Given the description of an element on the screen output the (x, y) to click on. 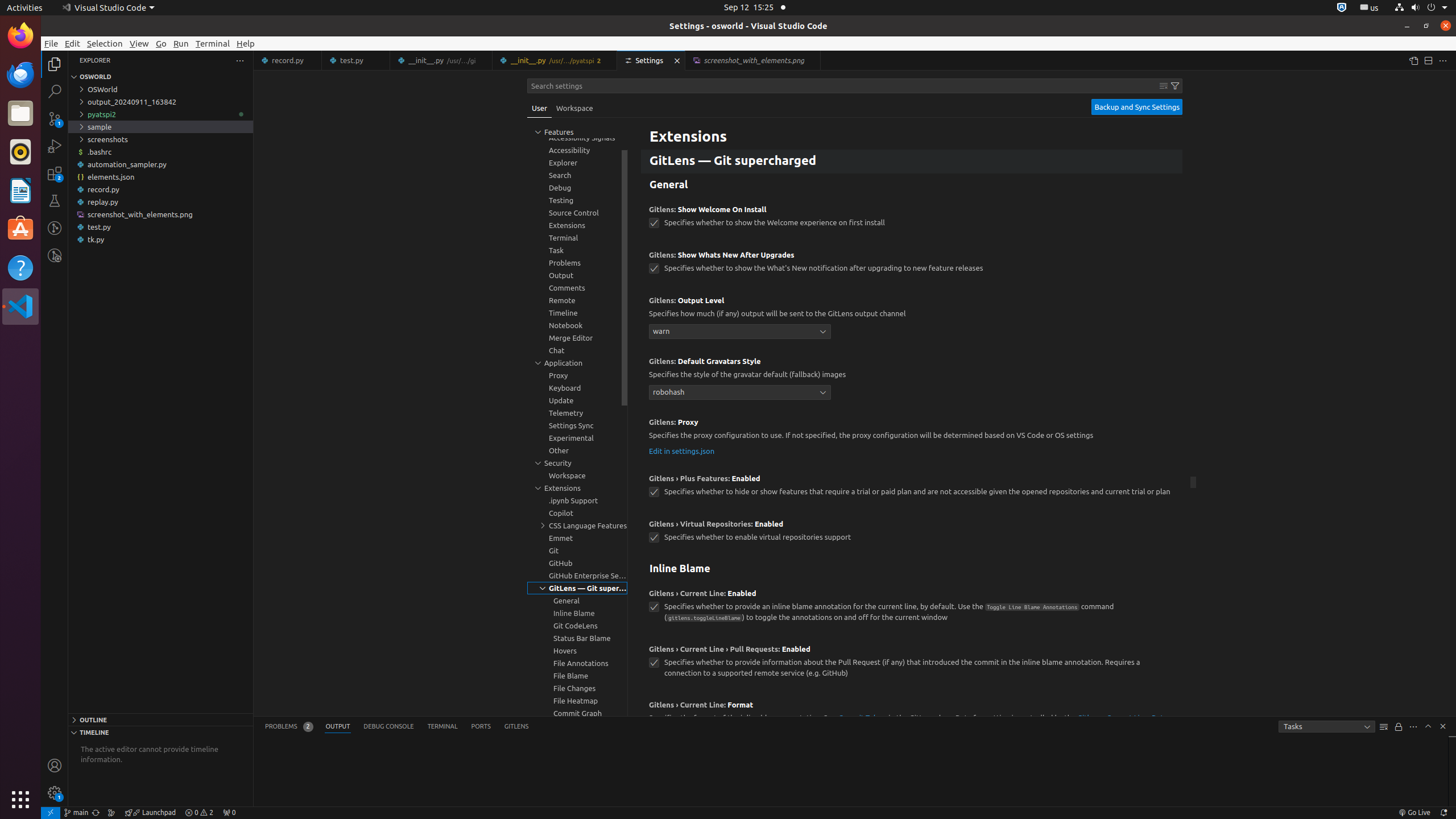
Accounts Element type: push-button (54, 765)
View Element type: push-button (139, 43)
Task, group Element type: tree-item (577, 249)
Gitlens Show Whats New After Upgrades. Specifies whether to show the What's New notification after upgrading to new feature releases  Element type: tree-item (911, 265)
